Given the description of an element on the screen output the (x, y) to click on. 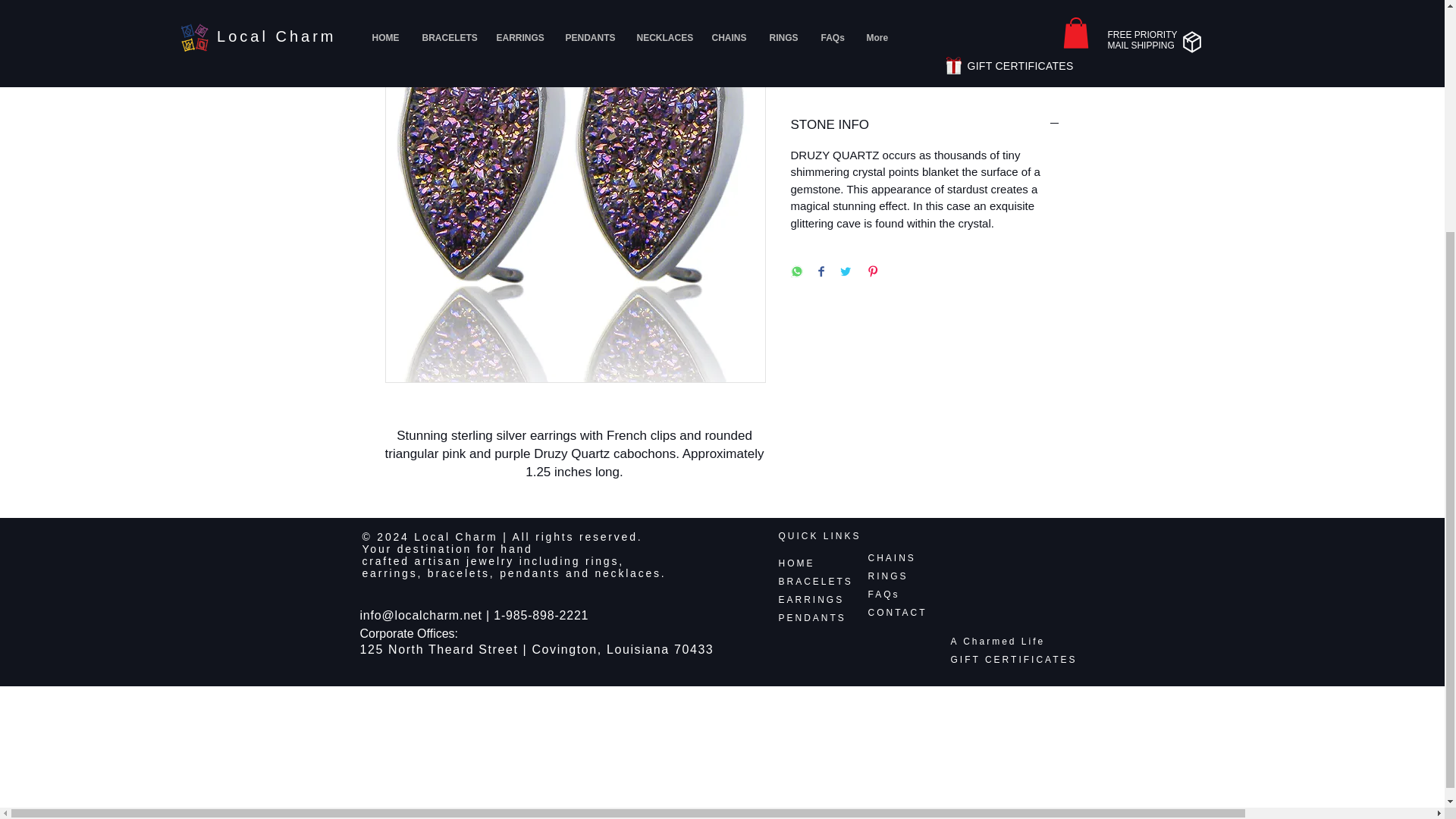
EARRINGS (810, 599)
FAQs (883, 593)
GIFT CERTIFICATES (1013, 659)
HOME (795, 562)
RINGS (887, 575)
STONE INFO (924, 125)
A Charmed Life (997, 641)
PENDANTS (811, 617)
CHAINS (891, 557)
BRACELETS (814, 581)
CONTACT (896, 612)
Add to Cart (924, 62)
1 (818, 10)
